Given the description of an element on the screen output the (x, y) to click on. 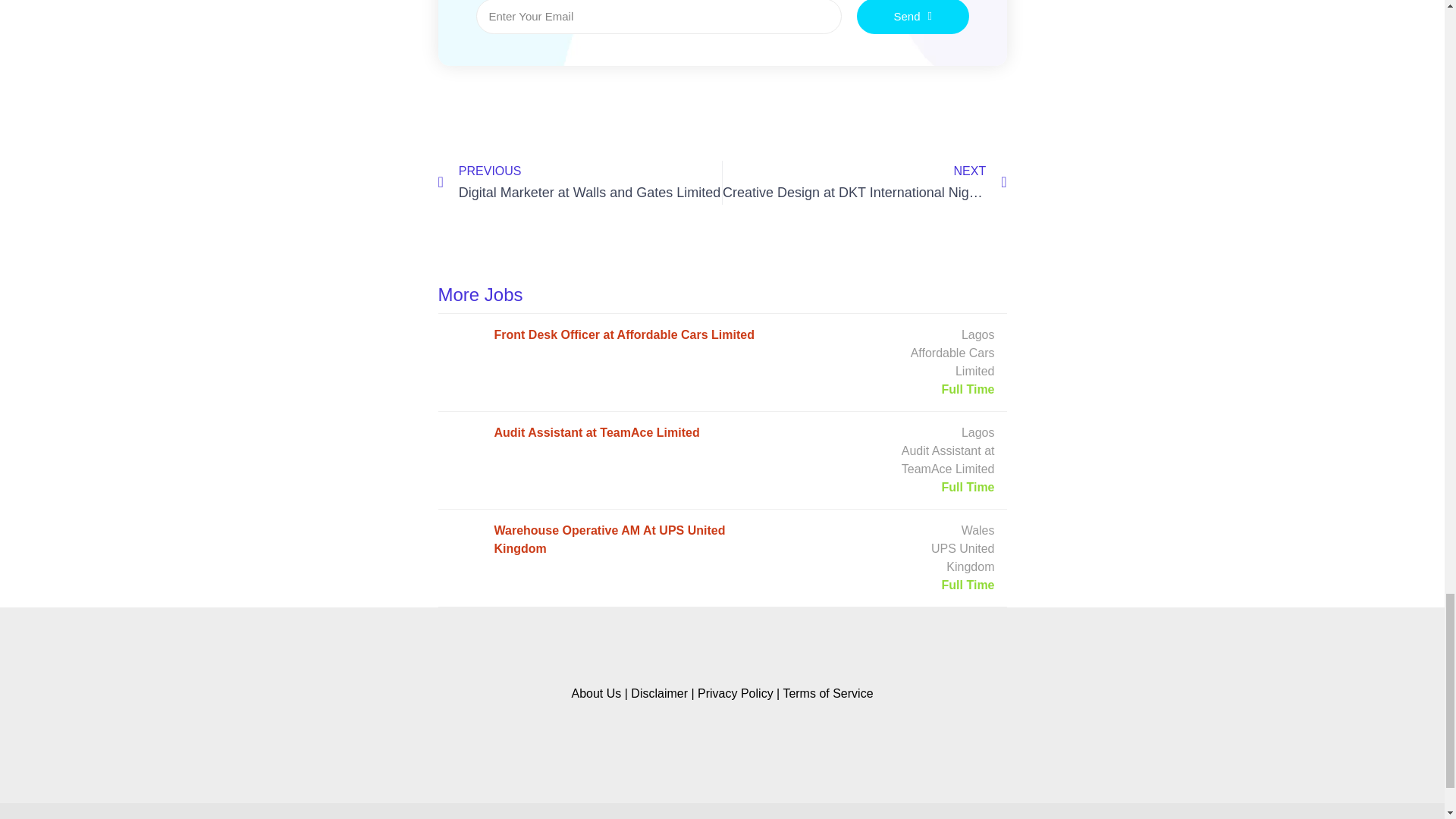
Disclaimer (658, 693)
Send (580, 182)
Privacy Policy (913, 17)
About Us (735, 693)
